Given the description of an element on the screen output the (x, y) to click on. 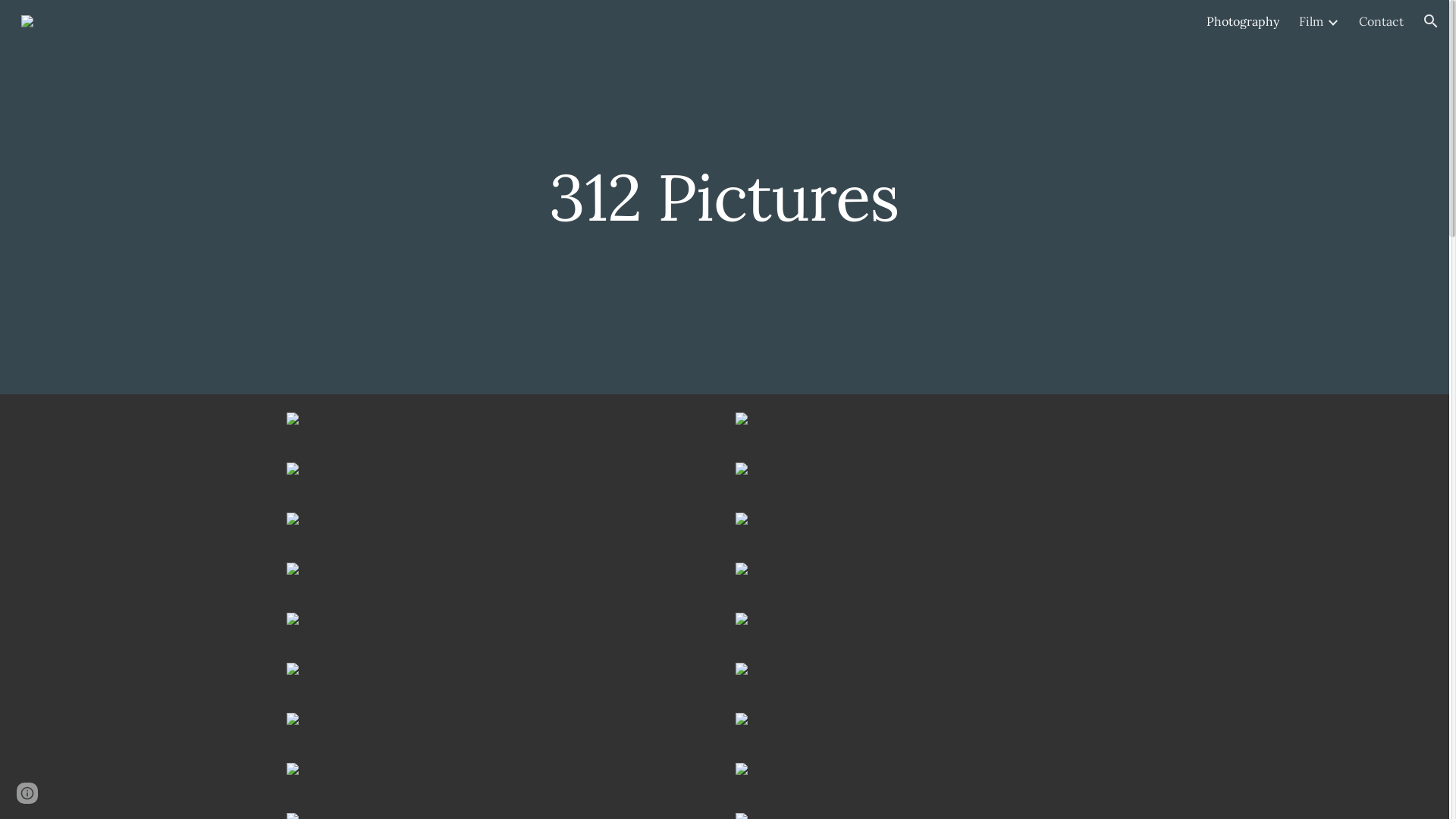
Expand/Collapse Element type: hover (1332, 20)
Film Element type: text (1311, 20)
Photography Element type: text (1242, 20)
Contact Element type: text (1380, 20)
